Given the description of an element on the screen output the (x, y) to click on. 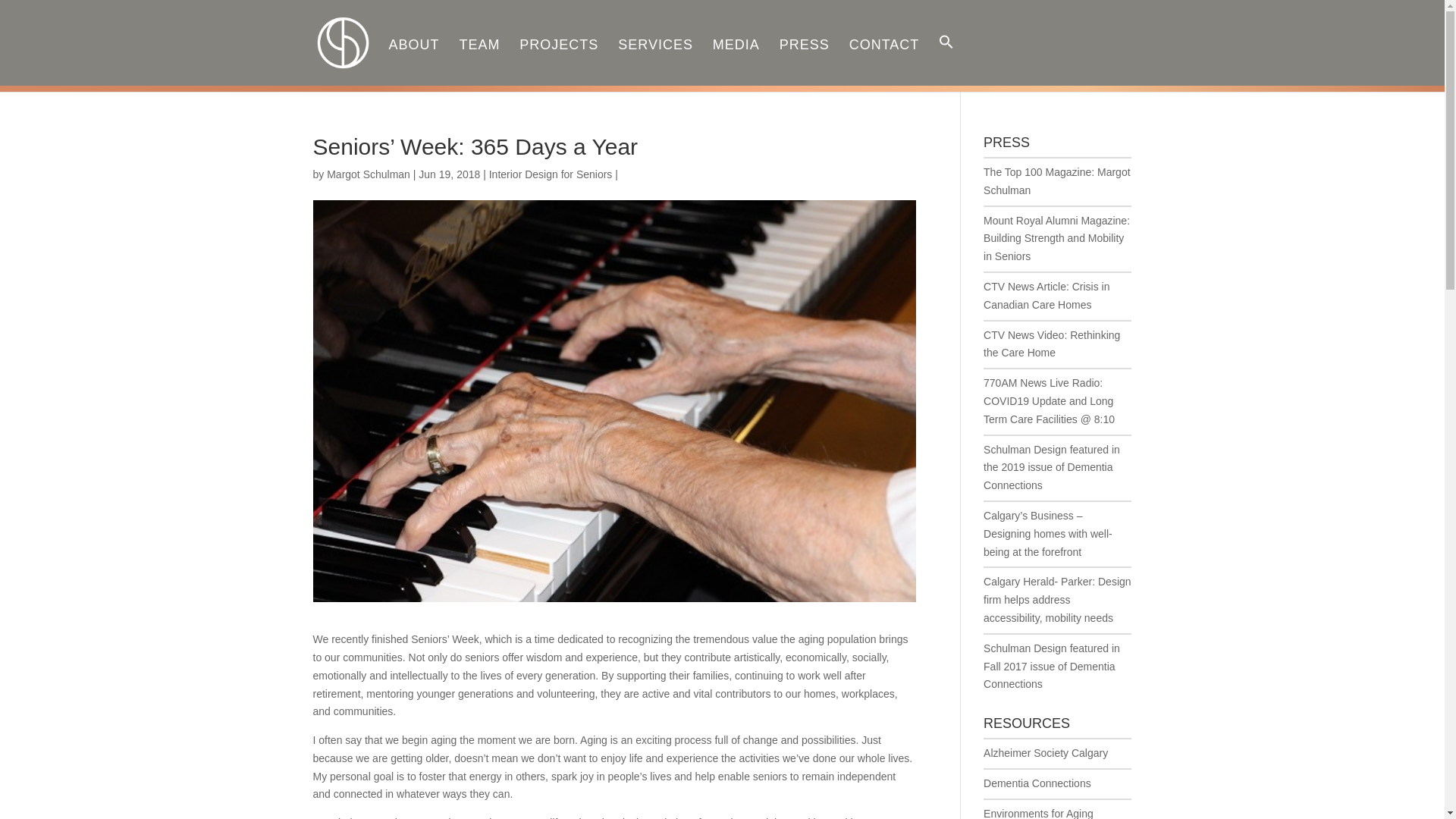
Environments for Aging Conference (1038, 813)
TEAM (478, 61)
MEDIA (736, 61)
Dementia Connections (1037, 783)
Margot Schulman (368, 174)
SERVICES (655, 61)
CTV News Video: Rethinking the Care Home (1051, 344)
The Top 100 Magazine: Margot Schulman (1057, 181)
PRESS (803, 61)
Interior Design for Seniors (550, 174)
Alzheimer Society Calgary (1046, 752)
ABOUT (413, 61)
